Given the description of an element on the screen output the (x, y) to click on. 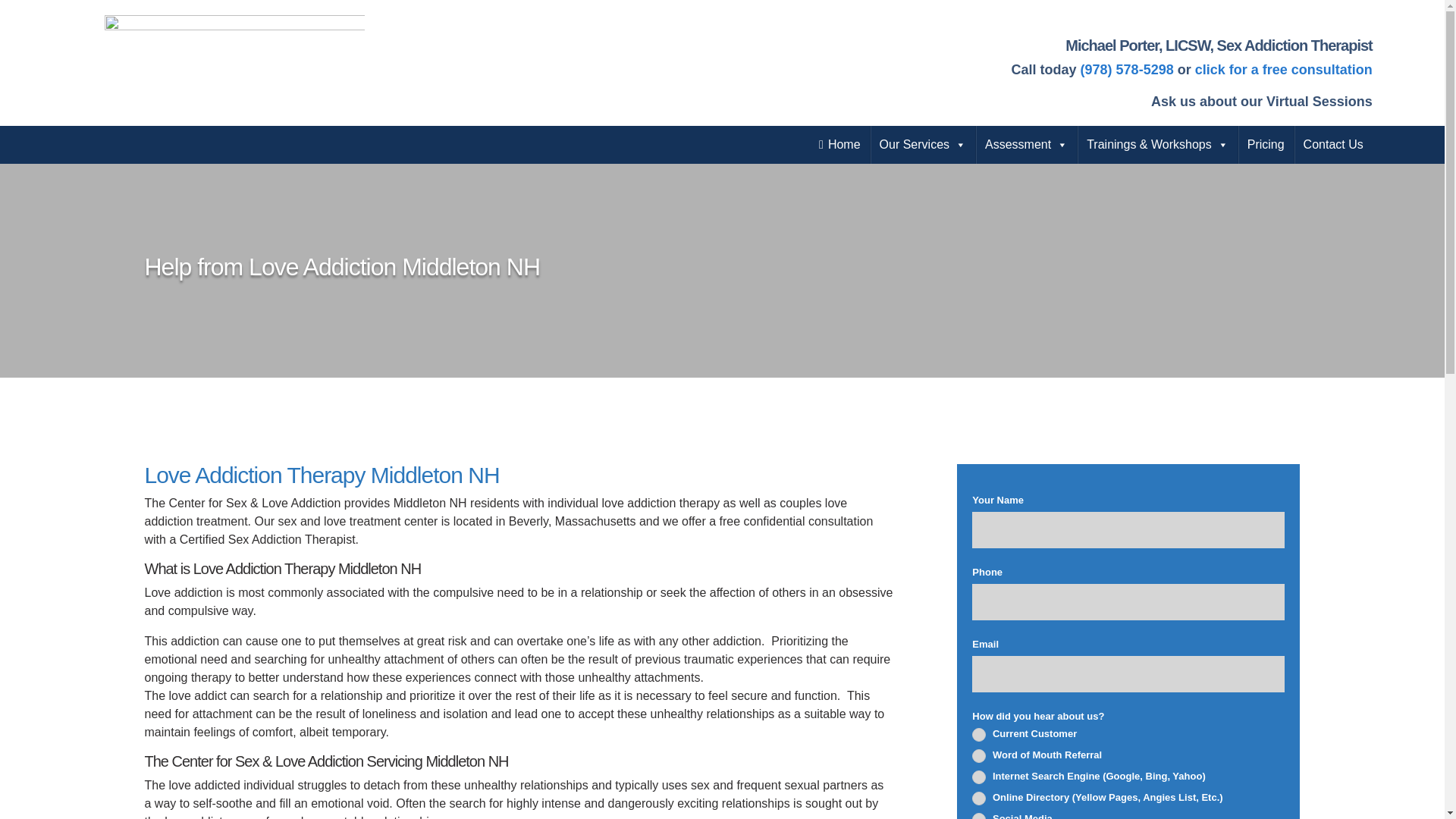
Social Media (978, 816)
click for a free consultation (1284, 69)
Home (839, 144)
Current Customer (978, 735)
Contact Us (1333, 144)
Pricing (1266, 144)
Our Services (922, 144)
Word of Mouth Referral (978, 755)
csla-logo-web-400x141 (234, 61)
Assessment (1026, 144)
